Given the description of an element on the screen output the (x, y) to click on. 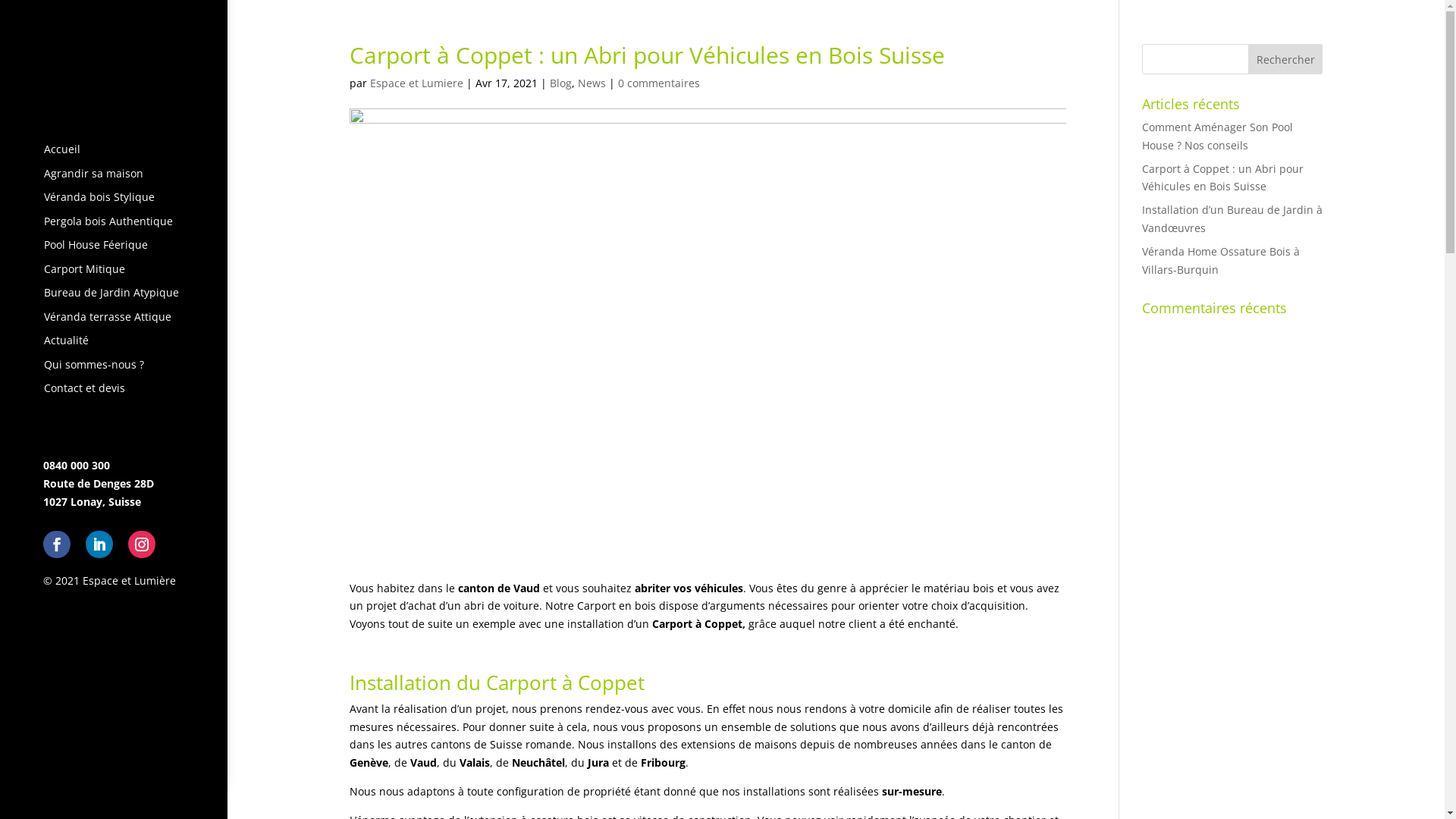
Qui sommes-nous ? Element type: text (113, 364)
Agrandir sa maison Element type: text (113, 173)
Espace et Lumiere Element type: text (416, 82)
Bureau de Jardin Atypique Element type: text (113, 292)
Carport Mitique Element type: text (113, 268)
Blog Element type: text (560, 82)
Suivez sur LinkedIn Element type: hover (99, 543)
Accueil Element type: text (113, 148)
Pergola bois Authentique Element type: text (113, 221)
Suivez sur Instagram Element type: hover (141, 543)
0 commentaires Element type: text (658, 82)
Suivez sur Facebook Element type: hover (56, 543)
Contact et devis Element type: text (113, 387)
News Element type: text (591, 82)
Rechercher Element type: text (1285, 58)
